Given the description of an element on the screen output the (x, y) to click on. 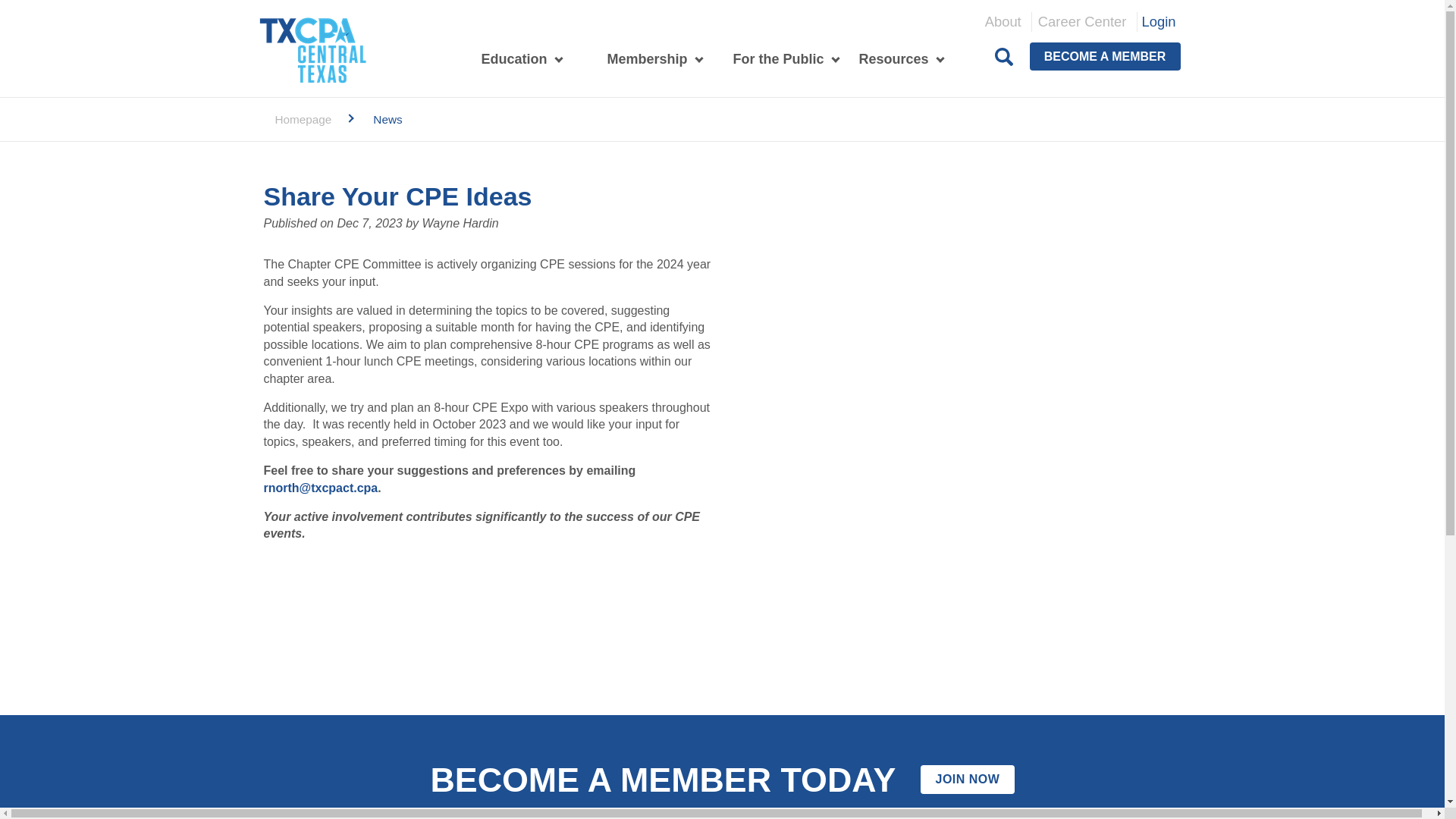
Resources (886, 59)
BECOME A MEMBER (1104, 56)
Homepage (303, 119)
About (1002, 21)
For the Public (772, 59)
Search (1003, 56)
Career Center (1082, 21)
Education (507, 59)
Central Texas (311, 50)
Login (1158, 21)
Membership (640, 59)
JOIN NOW (966, 778)
